Given the description of an element on the screen output the (x, y) to click on. 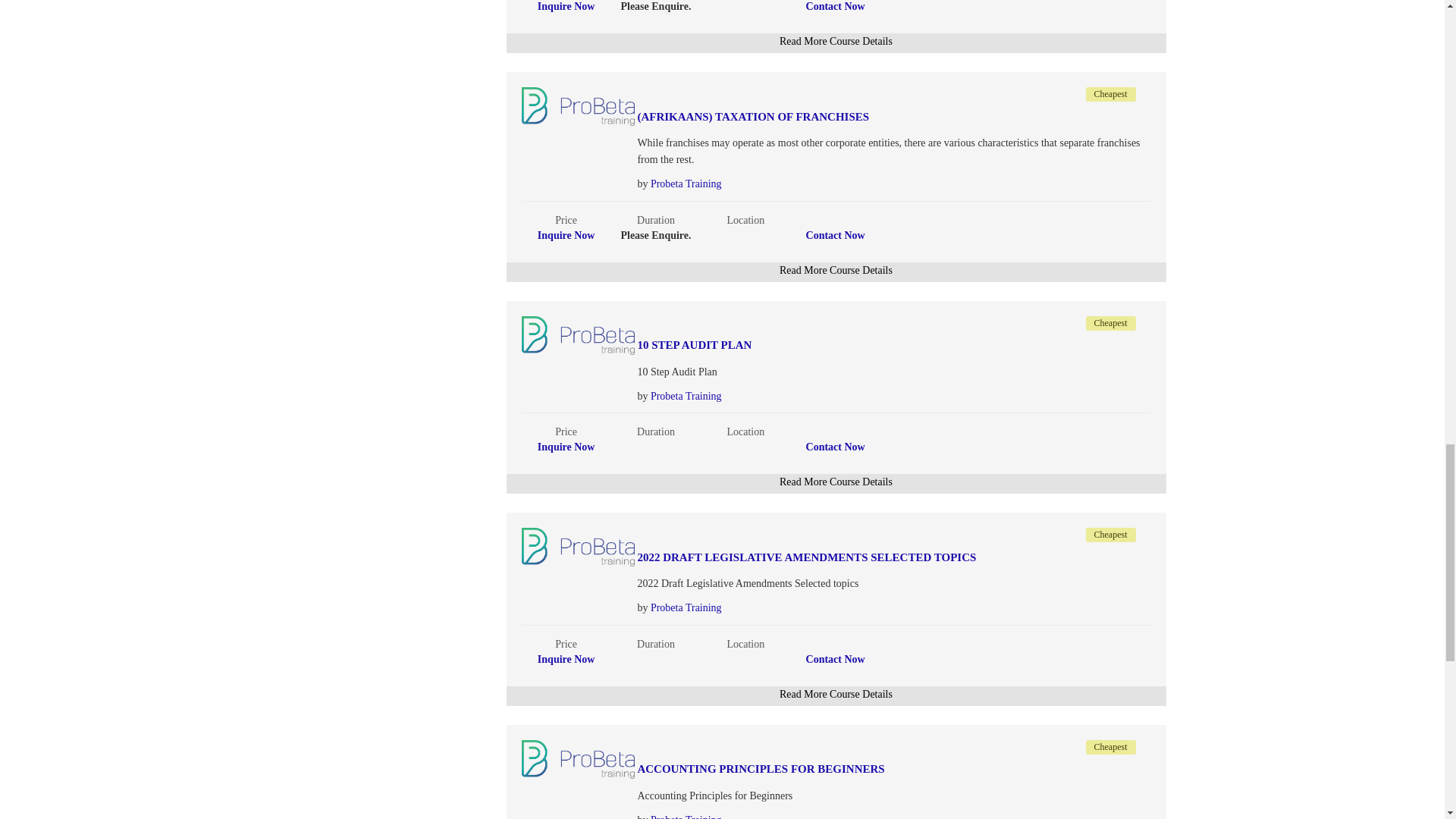
2022 Draft Legislative Amendments Selected Topics (838, 557)
Accounting Principles for Beginners (838, 768)
10 Step Audit Plan (838, 345)
